Given the description of an element on the screen output the (x, y) to click on. 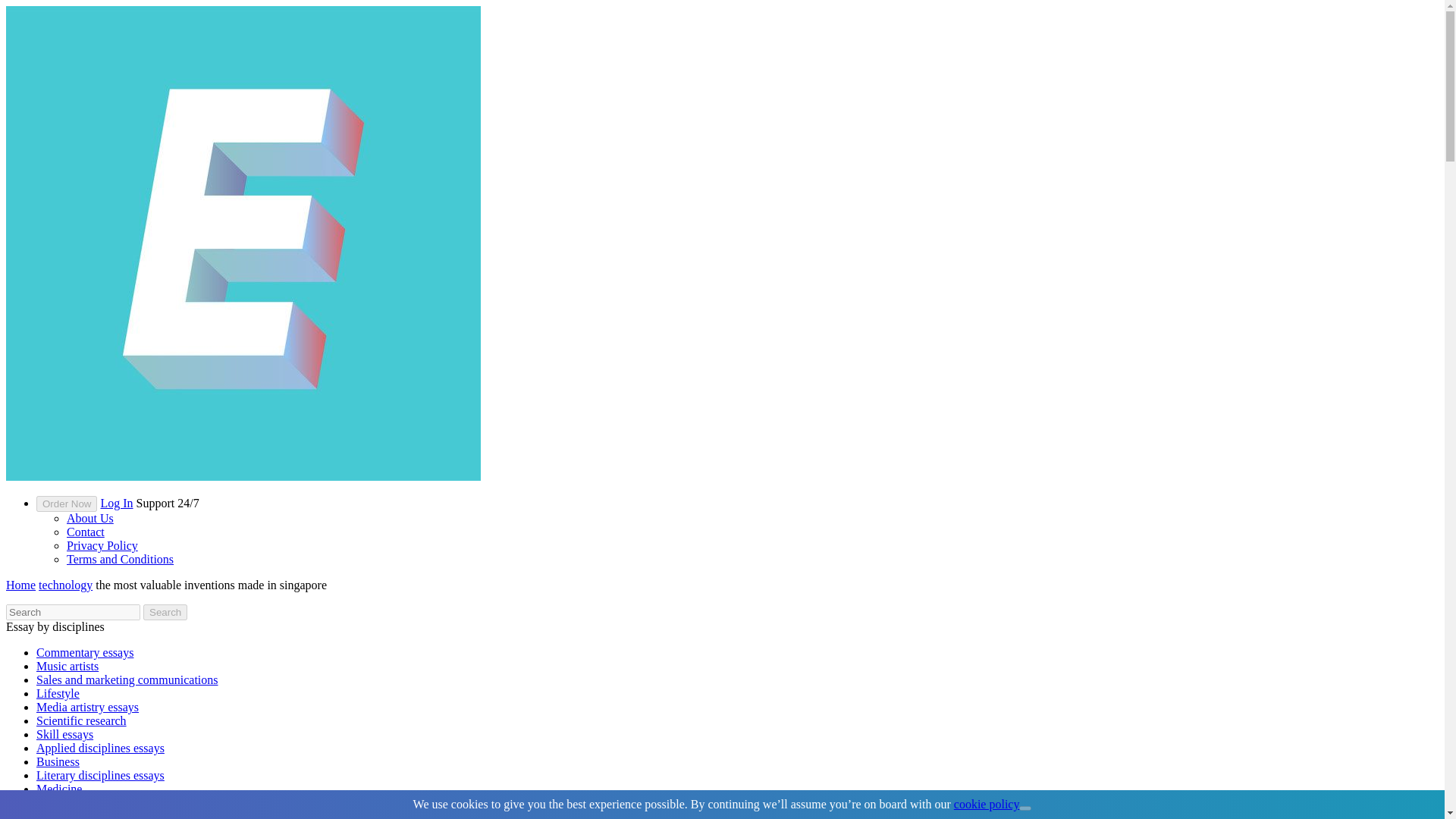
Dissertation examples (90, 802)
About Us (89, 517)
Scientific research (81, 720)
Business (58, 761)
Sales and marketing communications (127, 679)
Terms and Conditions (119, 558)
cookie policy (986, 803)
Commentary essays (84, 652)
Lifestyle (58, 693)
Log In (116, 502)
